Given the description of an element on the screen output the (x, y) to click on. 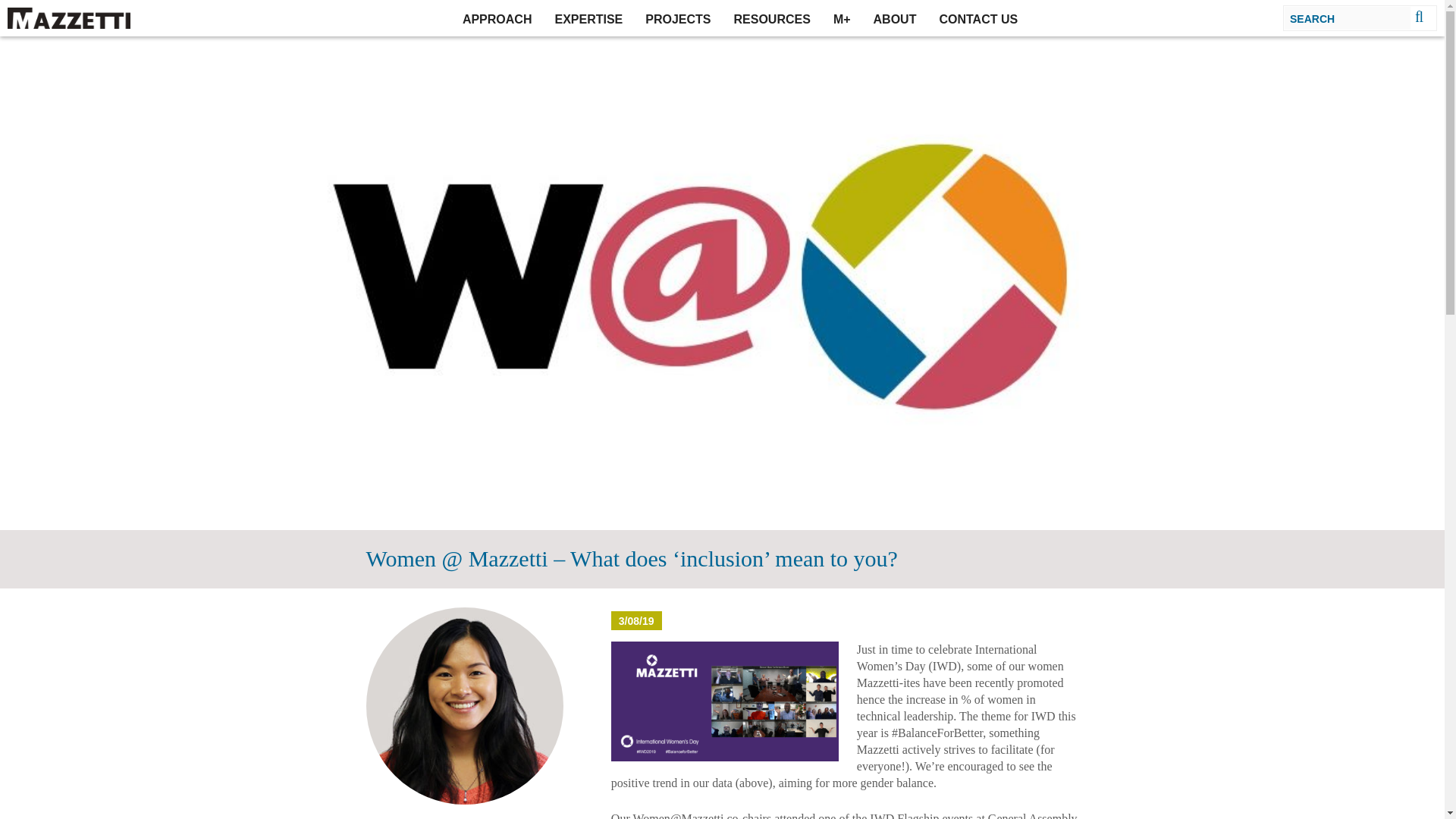
Search for: (1348, 17)
EXPERTISE (588, 18)
PROJECTS (677, 18)
RESOURCES (772, 18)
APPROACH (497, 18)
ABOUT (894, 18)
